Given the description of an element on the screen output the (x, y) to click on. 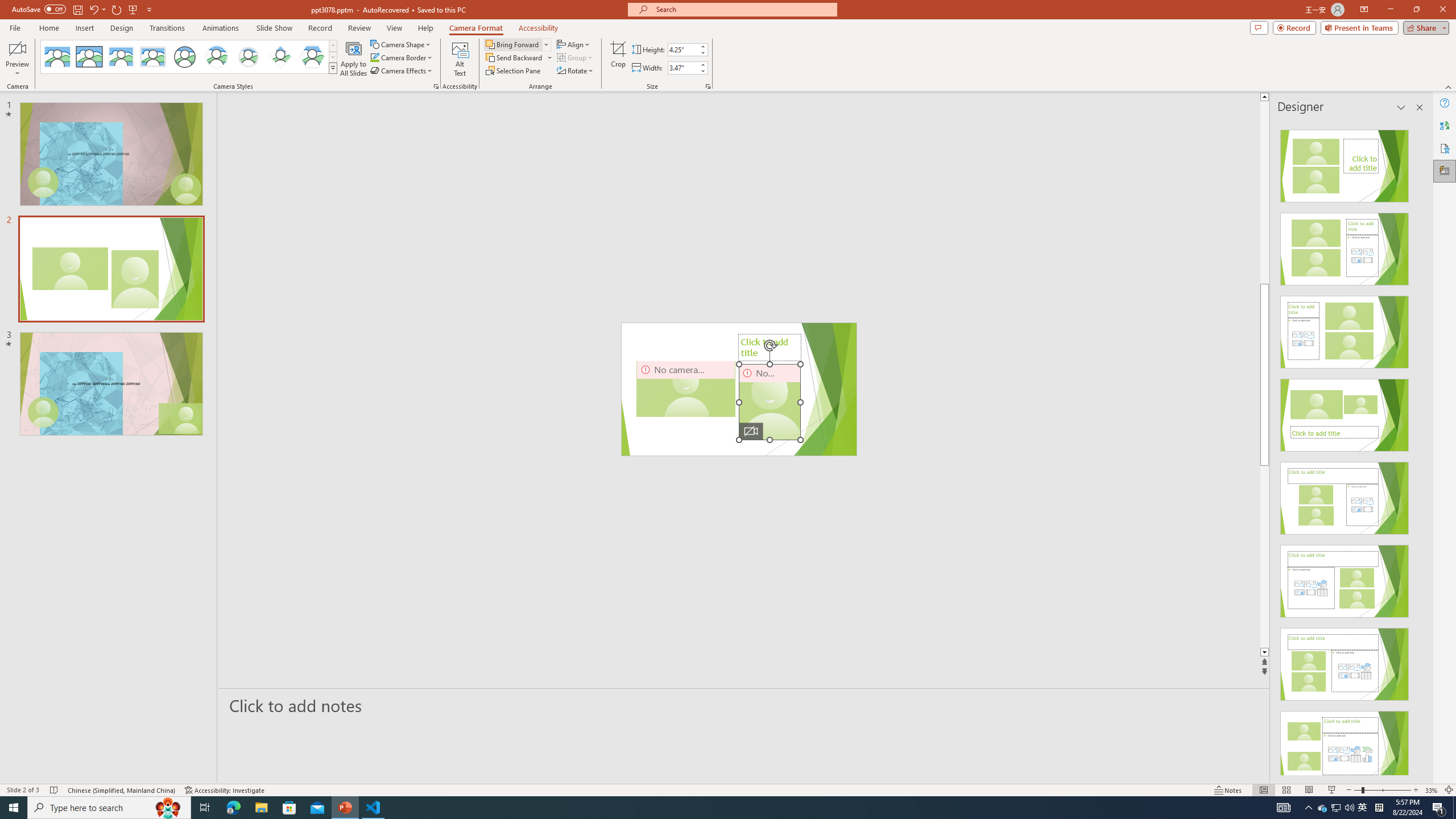
Rotate (575, 69)
Center Shadow Diamond (280, 56)
Camera 3, No camera detected. (685, 388)
Class: NetUIScrollBar (1418, 447)
Send Backward (518, 56)
Camera Border Green, Accent 1 (374, 56)
Camera Styles (333, 67)
